Given the description of an element on the screen output the (x, y) to click on. 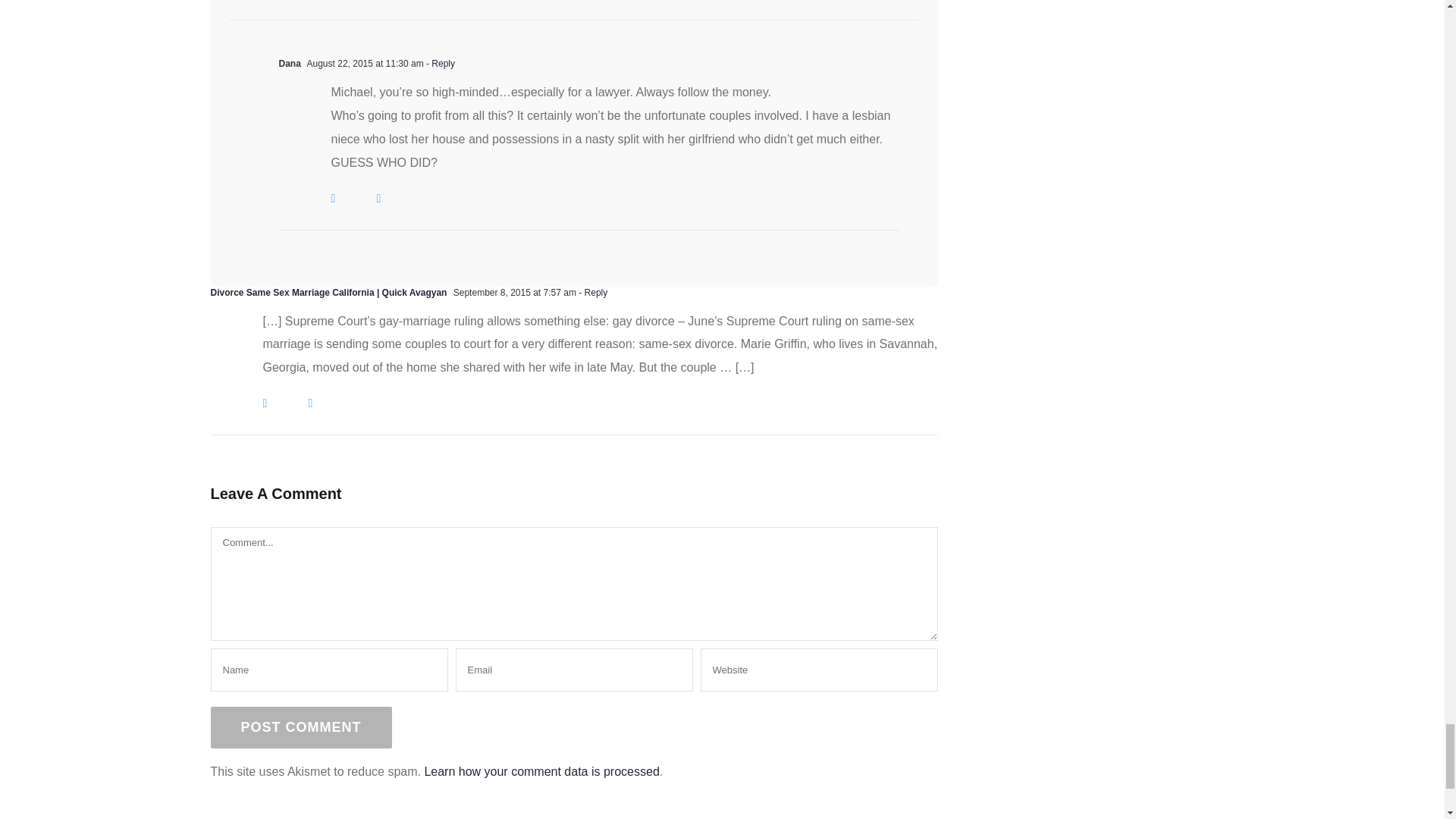
Post Comment (301, 727)
